Given the description of an element on the screen output the (x, y) to click on. 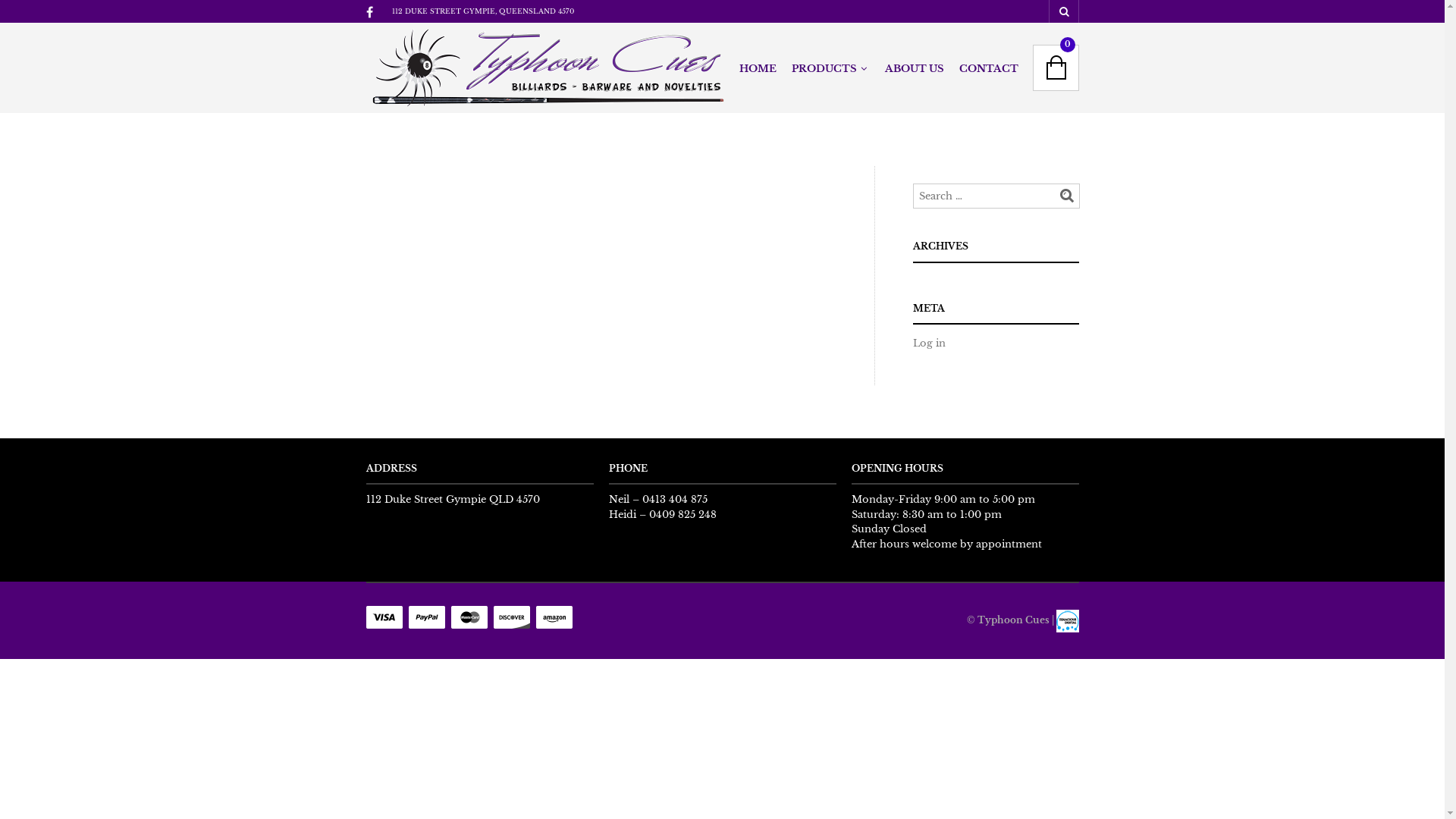
PRODUCTS Element type: text (826, 69)
Search Element type: text (1066, 195)
Log in Element type: text (929, 342)
ABOUT US Element type: text (913, 69)
HOME Element type: text (757, 69)
CONTACT Element type: text (987, 69)
